Given the description of an element on the screen output the (x, y) to click on. 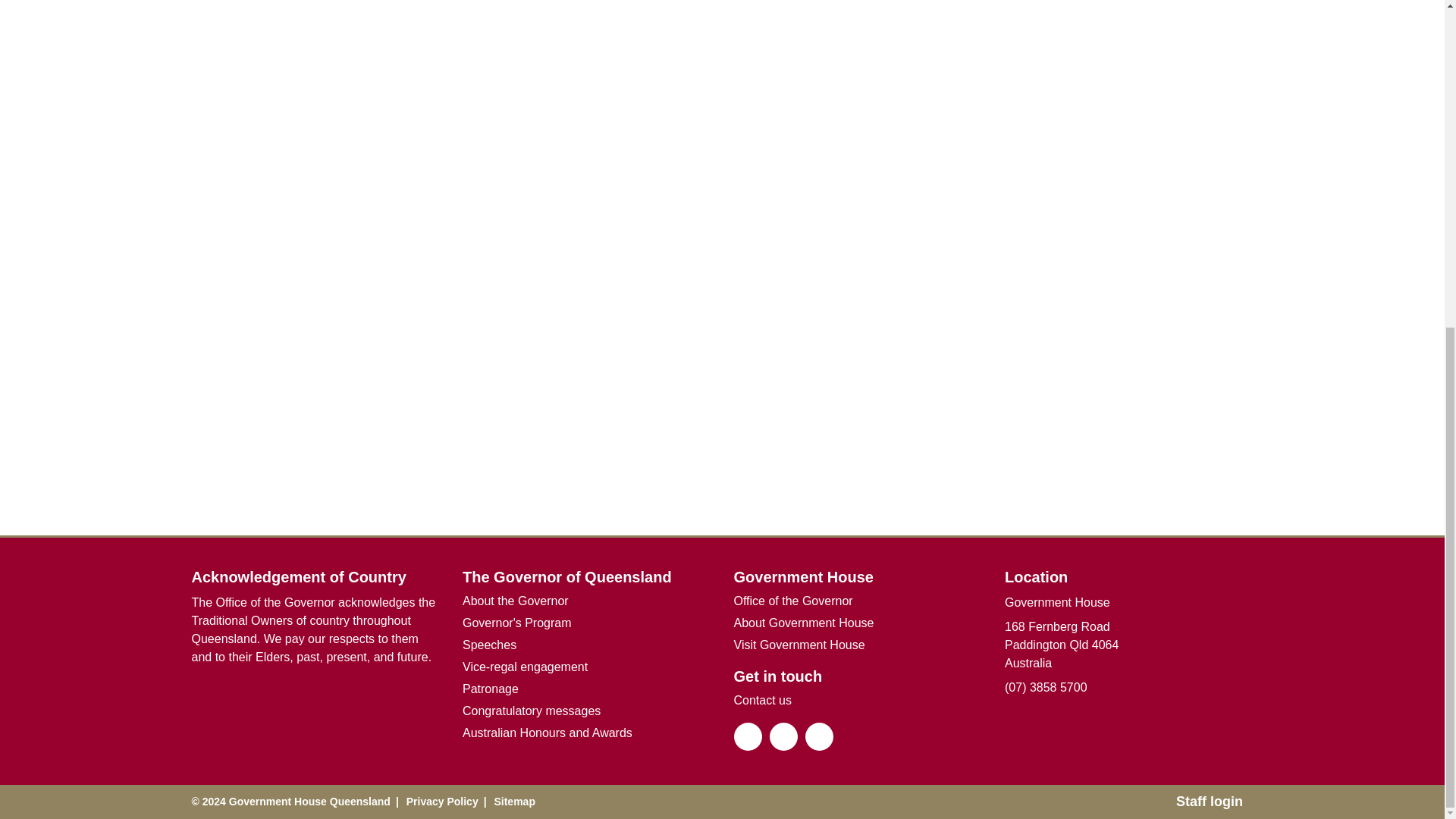
Speeches (489, 644)
About the Governor (516, 599)
Governor's Program (517, 622)
Vice-regal engagement (525, 667)
